Given the description of an element on the screen output the (x, y) to click on. 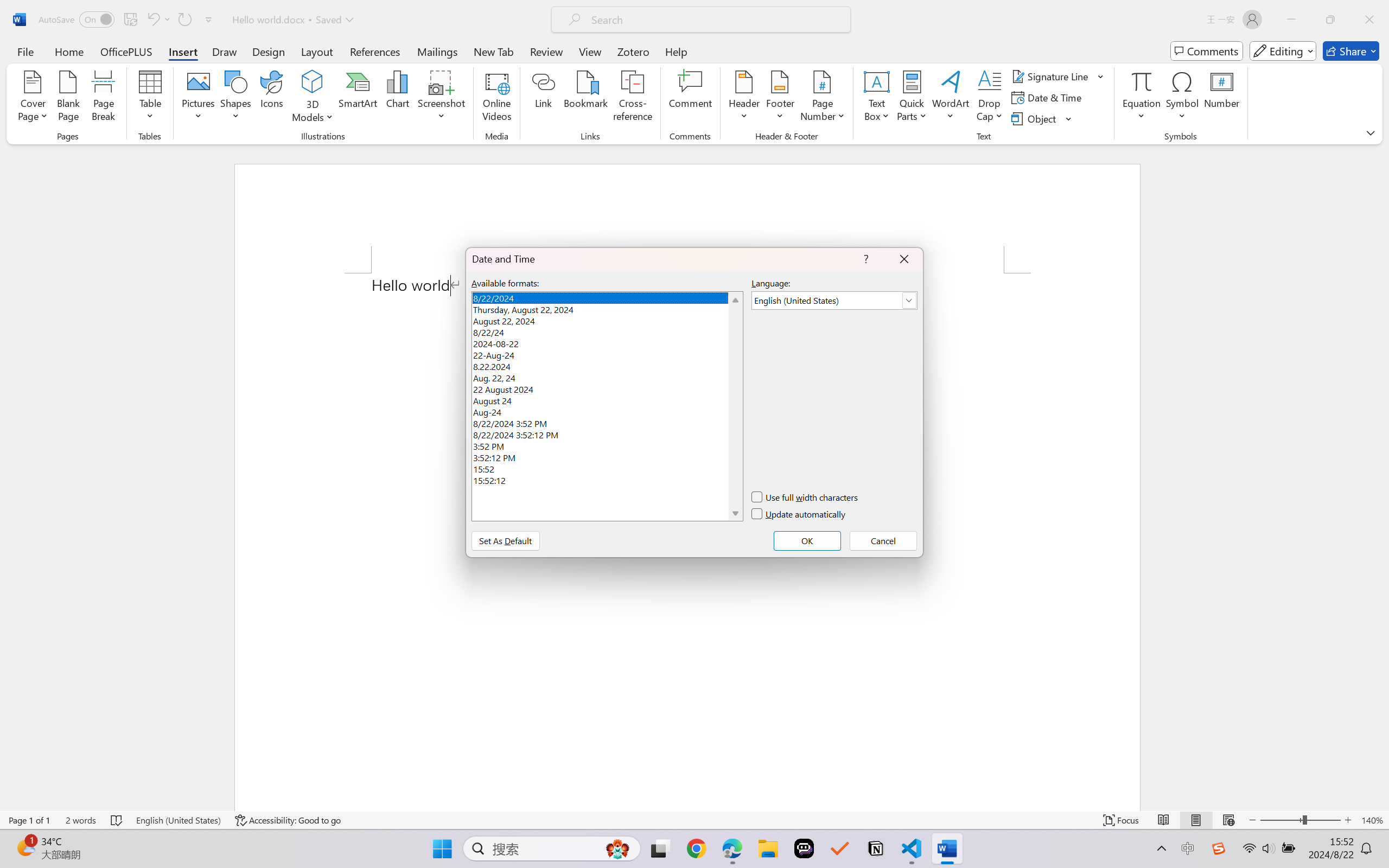
AutomationID: 17 (734, 405)
SmartArt... (358, 97)
8.22.2024 (606, 365)
Notion (875, 848)
Comment (689, 97)
Symbol (1181, 97)
Blank Page (67, 97)
Ribbon Display Options (1370, 132)
Online Videos... (496, 97)
Help (675, 51)
Page Number (822, 97)
Layout (316, 51)
Language: (834, 300)
Mailings (437, 51)
